Given the description of an element on the screen output the (x, y) to click on. 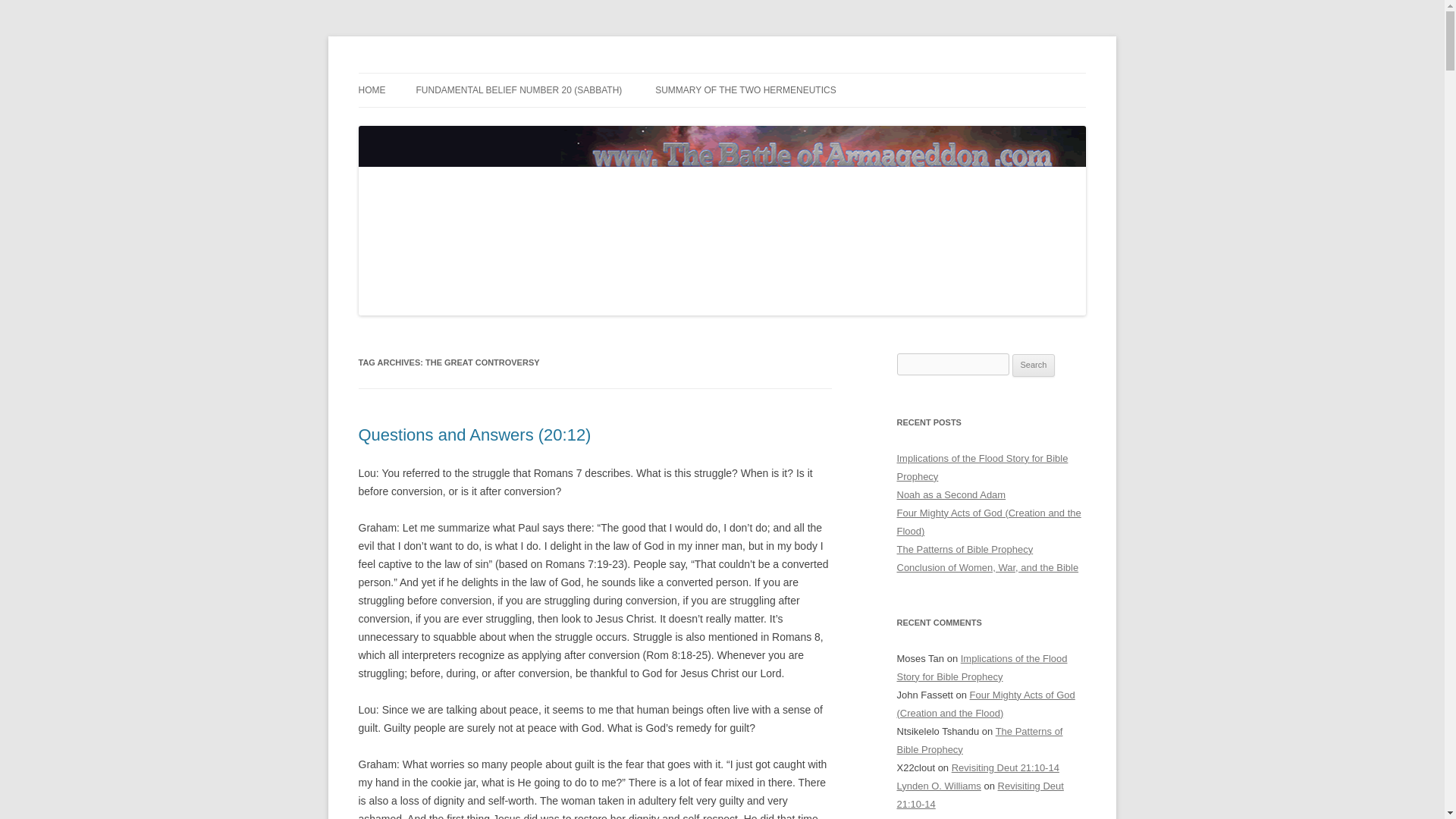
Search (1033, 364)
Jon Paulien's Blog (445, 72)
SUMMARY OF THE TWO HERMENEUTICS (745, 90)
